Given the description of an element on the screen output the (x, y) to click on. 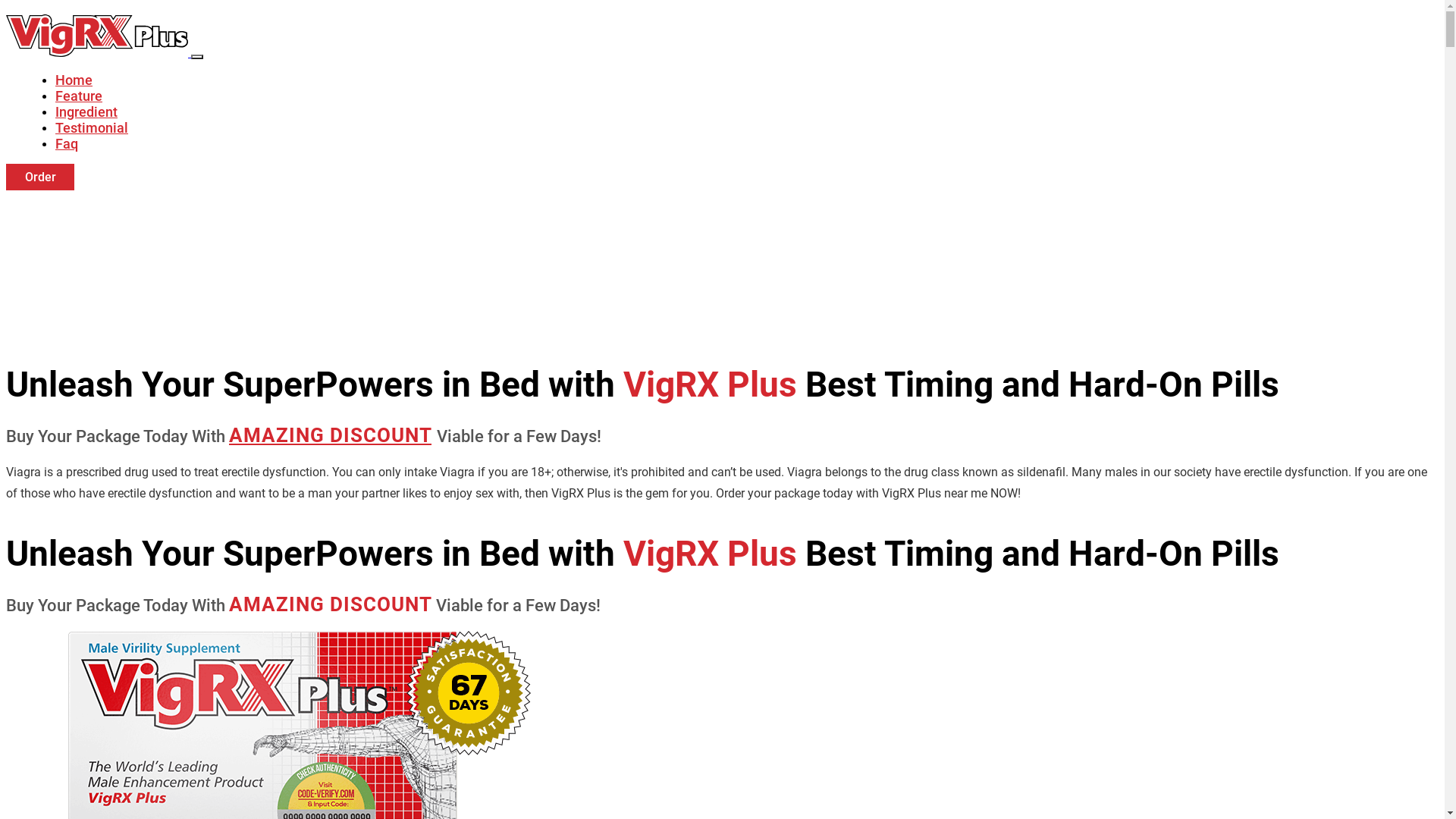
Testimonial Element type: text (91, 127)
Feature Element type: text (78, 95)
Order Element type: text (40, 176)
AMAZING DISCOUNT Element type: text (330, 434)
Faq Element type: text (66, 143)
Ingredient Element type: text (86, 111)
Home Element type: text (73, 79)
